Given the description of an element on the screen output the (x, y) to click on. 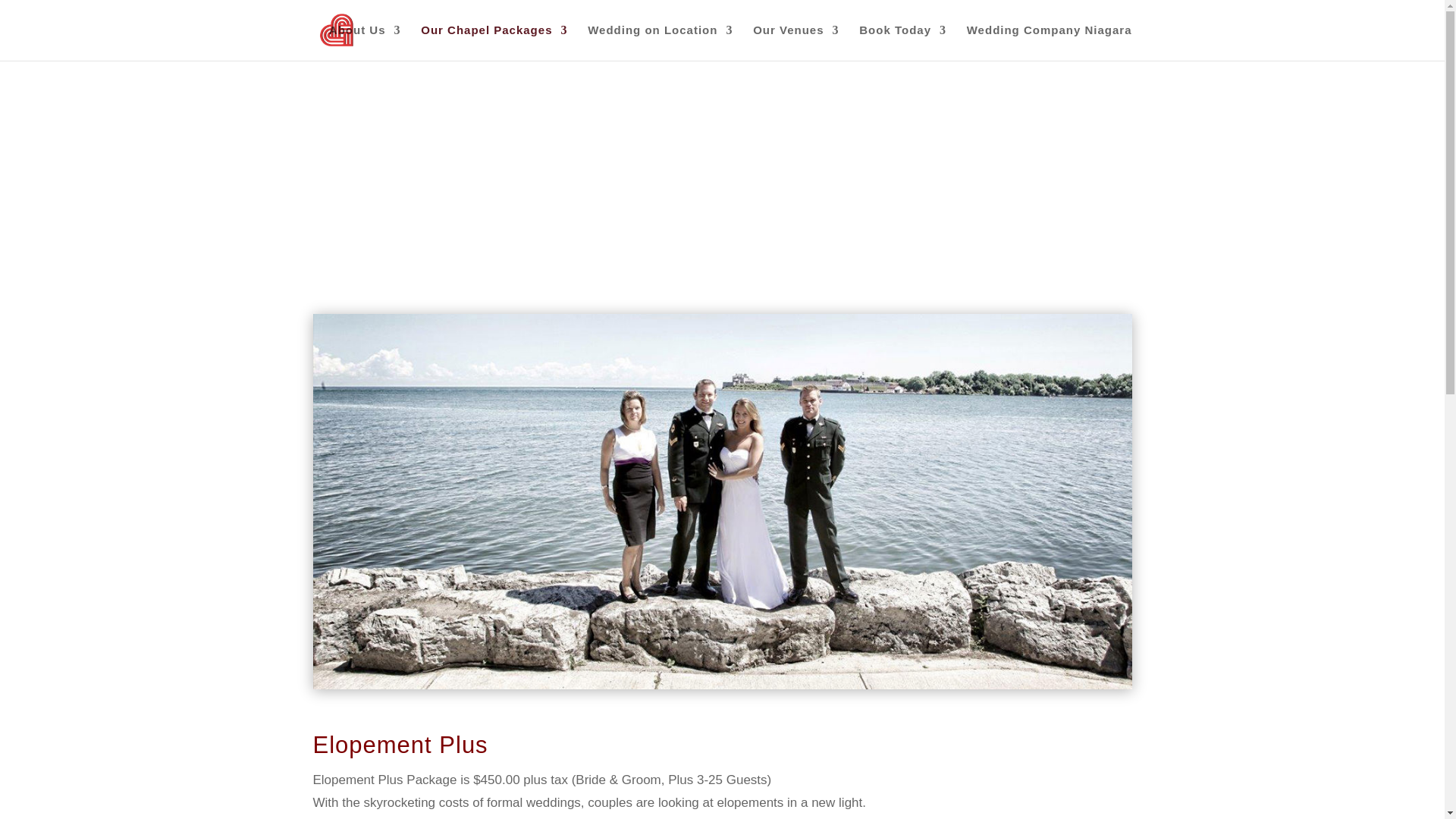
Our Venues (795, 42)
About Us (365, 42)
Our Chapel Packages (493, 42)
Book Today (902, 42)
Wedding on Location (660, 42)
Wedding Company Niagara (1049, 42)
